Given the description of an element on the screen output the (x, y) to click on. 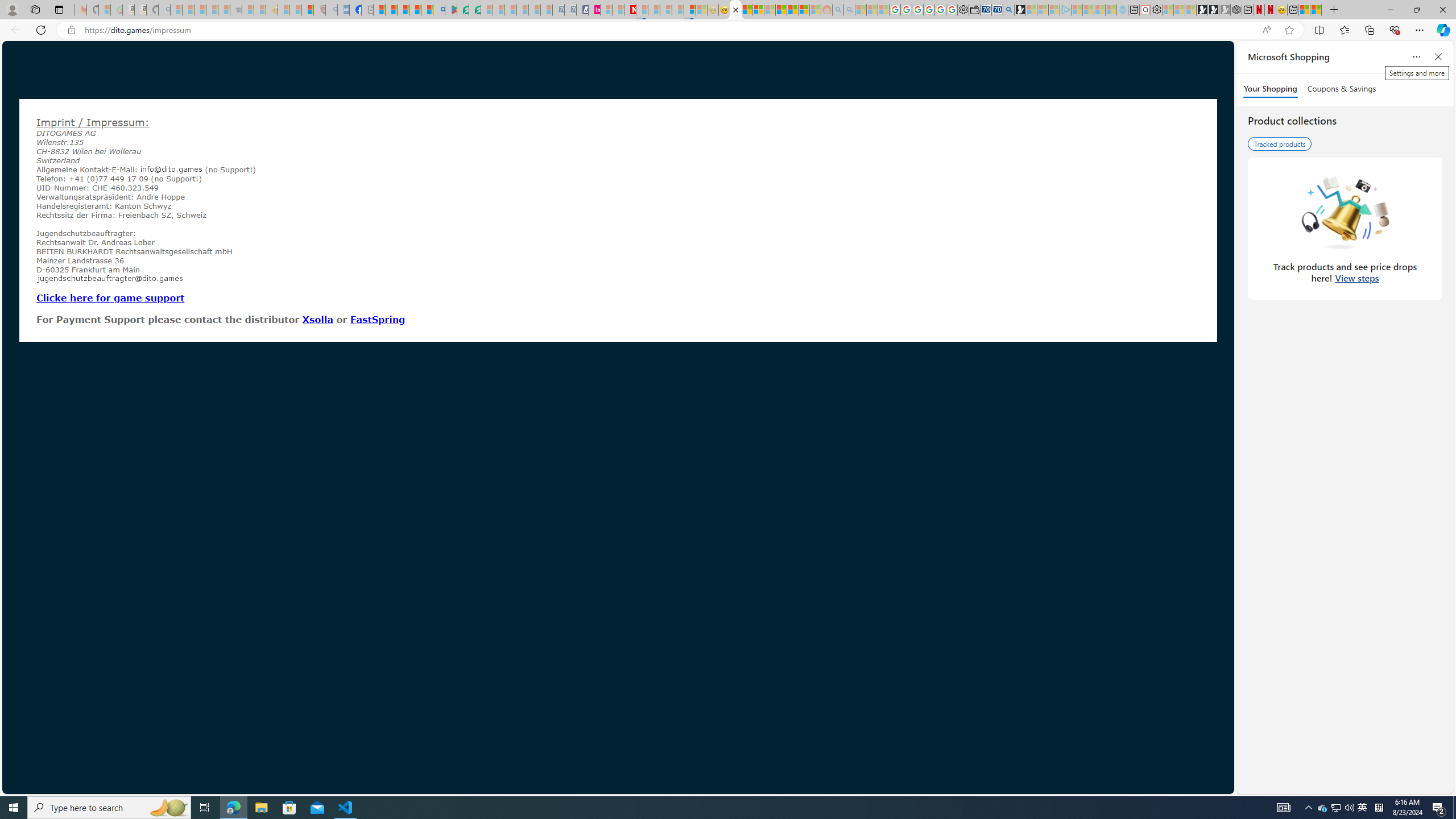
Combat Siege (236, 9)
Xsolla (317, 319)
MSNBC - MSN (746, 9)
Recipes - MSN - Sleeping (283, 9)
Nordace - Nordace Siena Is Not An Ordinary Backpack (1235, 9)
Cheap Car Rentals - Save70.com - Sleeping (558, 9)
Robert H. Shmerling, MD - Harvard Health - Sleeping (319, 9)
